Given the description of an element on the screen output the (x, y) to click on. 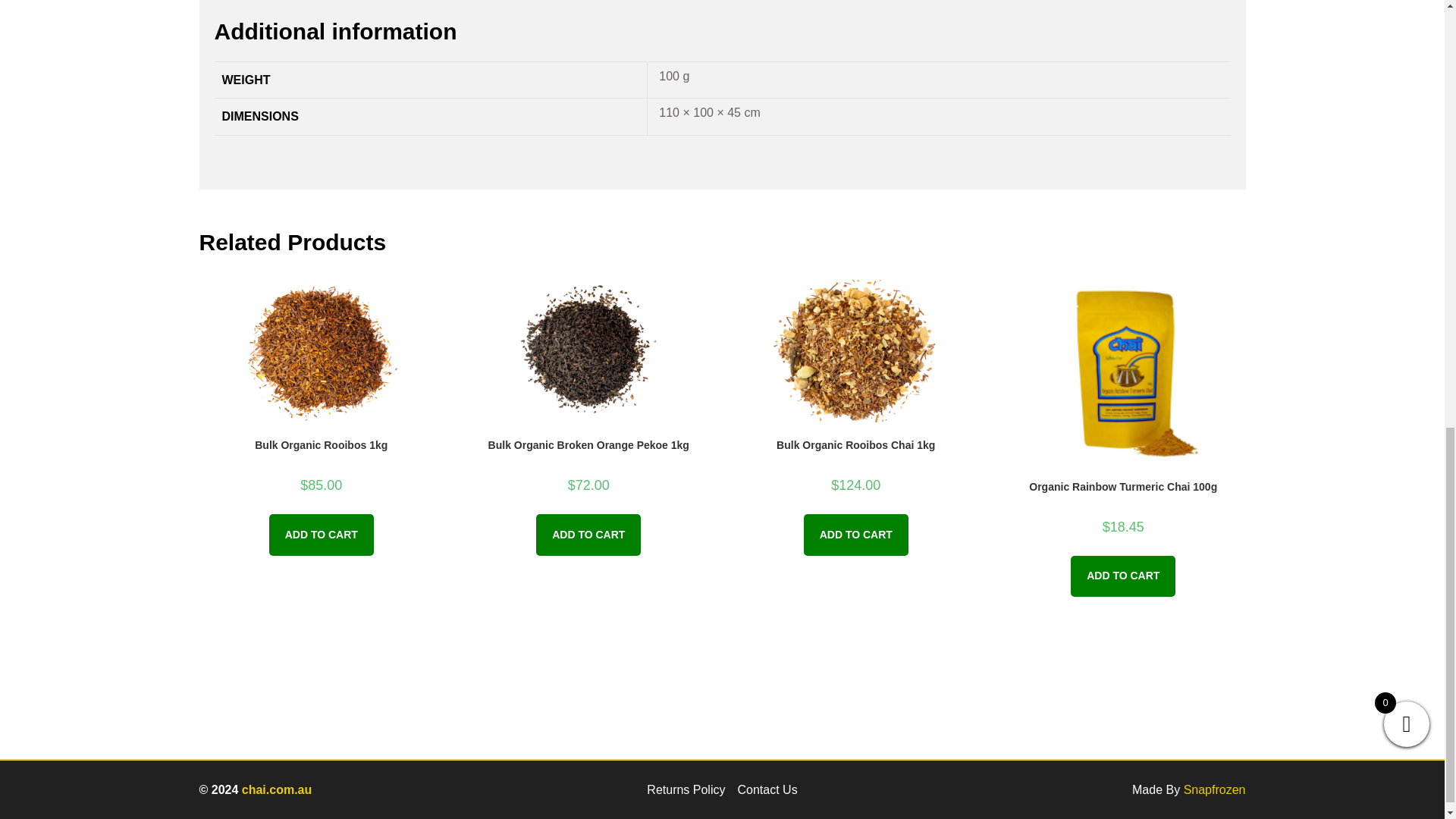
Bulk Organic Broken Orange Pekoe 1kg (587, 445)
ADD TO CART (321, 535)
Bulk Organic Rooibos 1kg (320, 445)
ADD TO CART (587, 535)
